Given the description of an element on the screen output the (x, y) to click on. 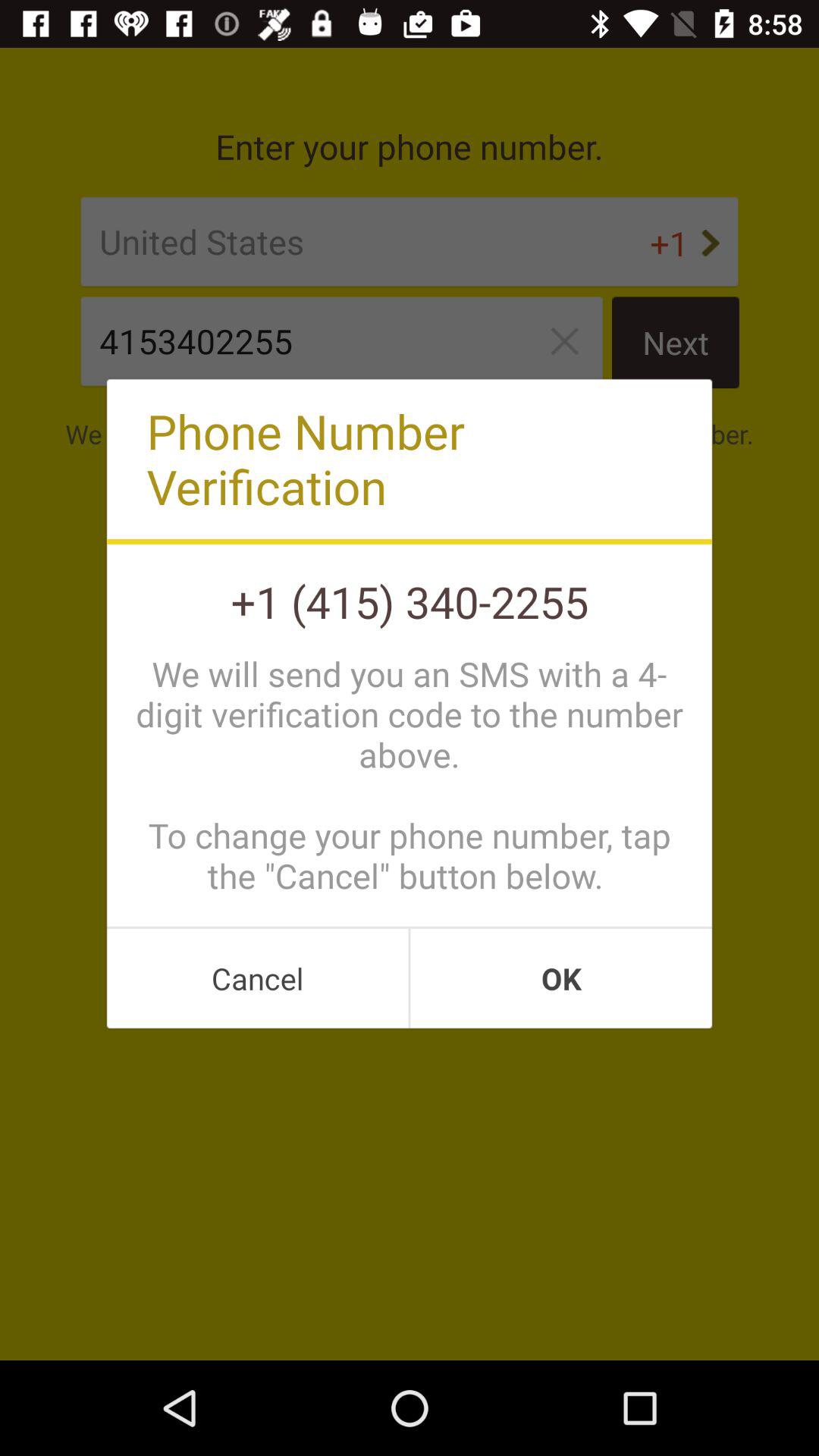
select the item at the bottom right corner (561, 978)
